Given the description of an element on the screen output the (x, y) to click on. 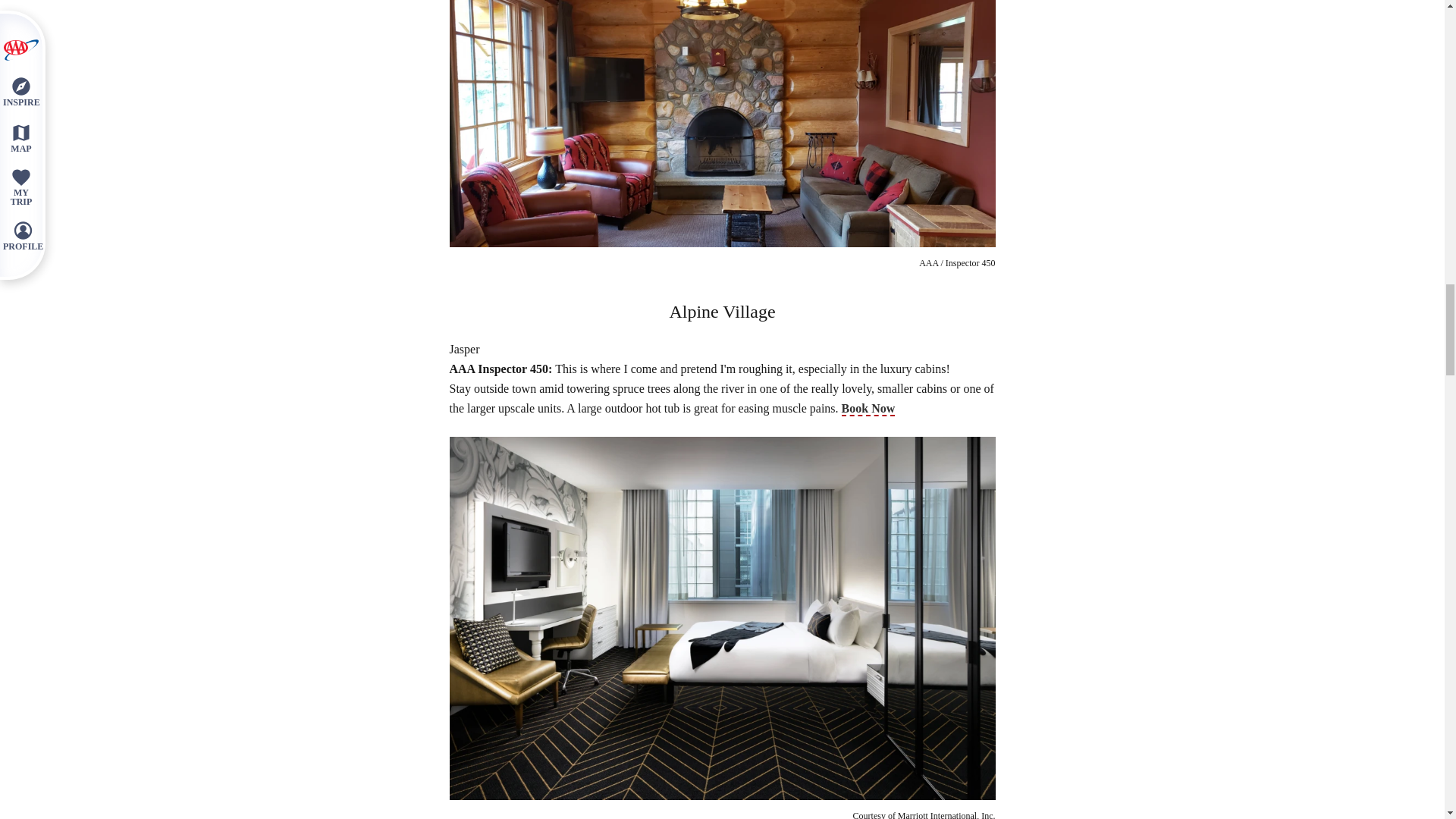
Book Now (868, 409)
